Given the description of an element on the screen output the (x, y) to click on. 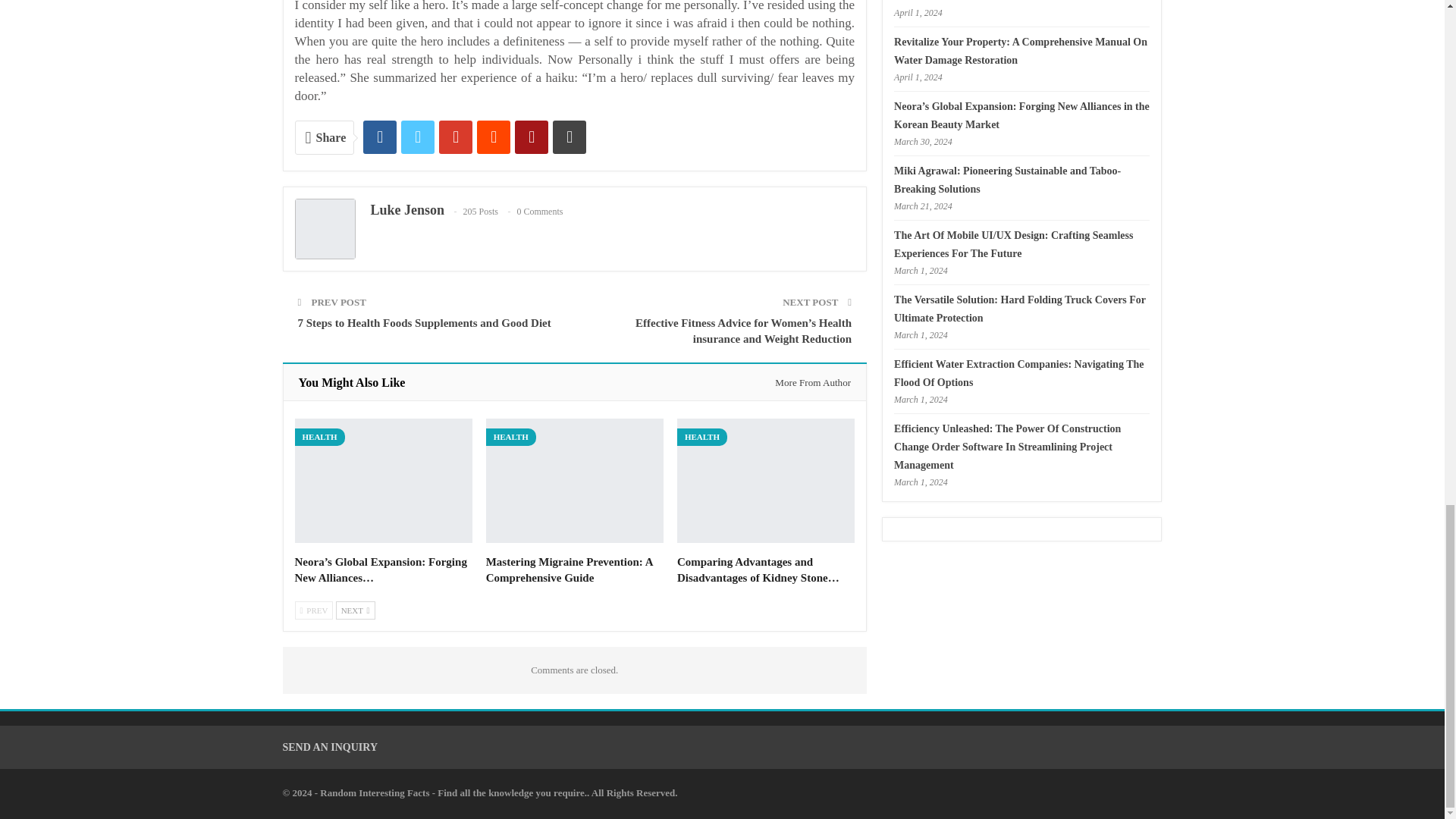
Mastering Migraine Prevention: A Comprehensive Guide (569, 569)
Previous (313, 610)
Mastering Migraine Prevention: A Comprehensive Guide (574, 480)
Next (355, 610)
